Given the description of an element on the screen output the (x, y) to click on. 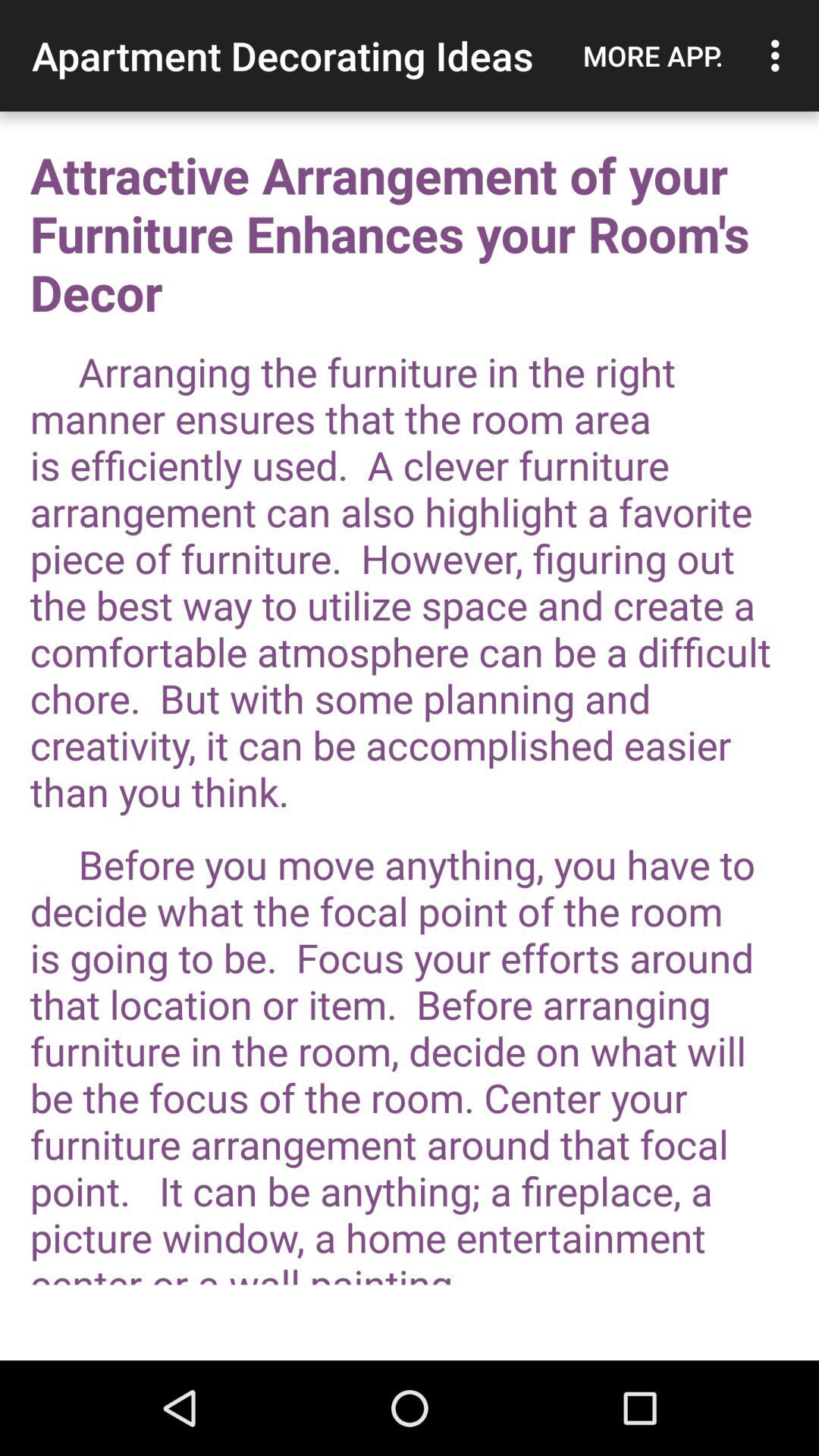
open item next to more app. item (779, 55)
